Given the description of an element on the screen output the (x, y) to click on. 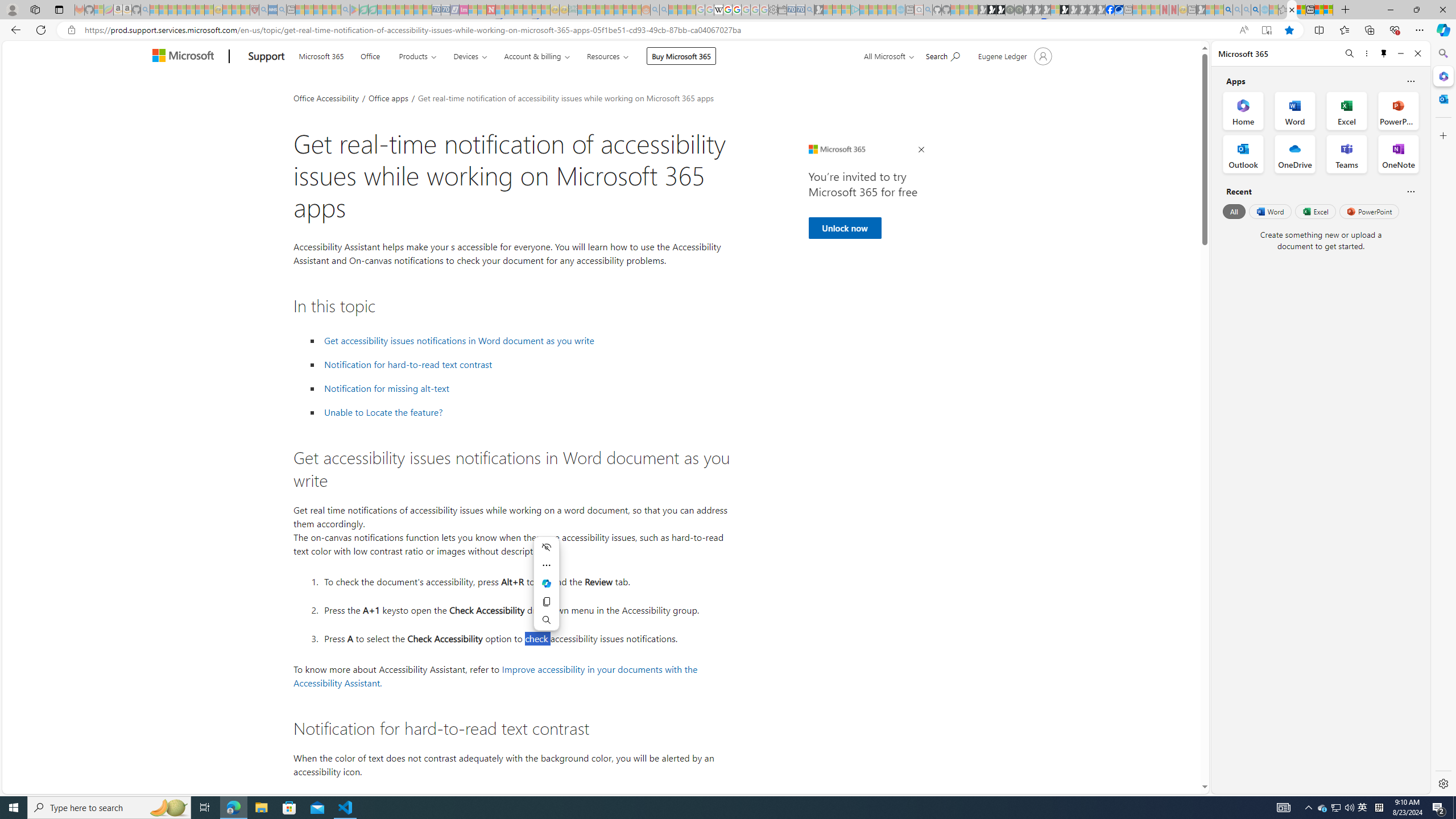
Outlook Office App (1243, 154)
 Notification for missing alt-text (386, 388)
 Notification for hard-to-read text contrast (408, 364)
